Given the description of an element on the screen output the (x, y) to click on. 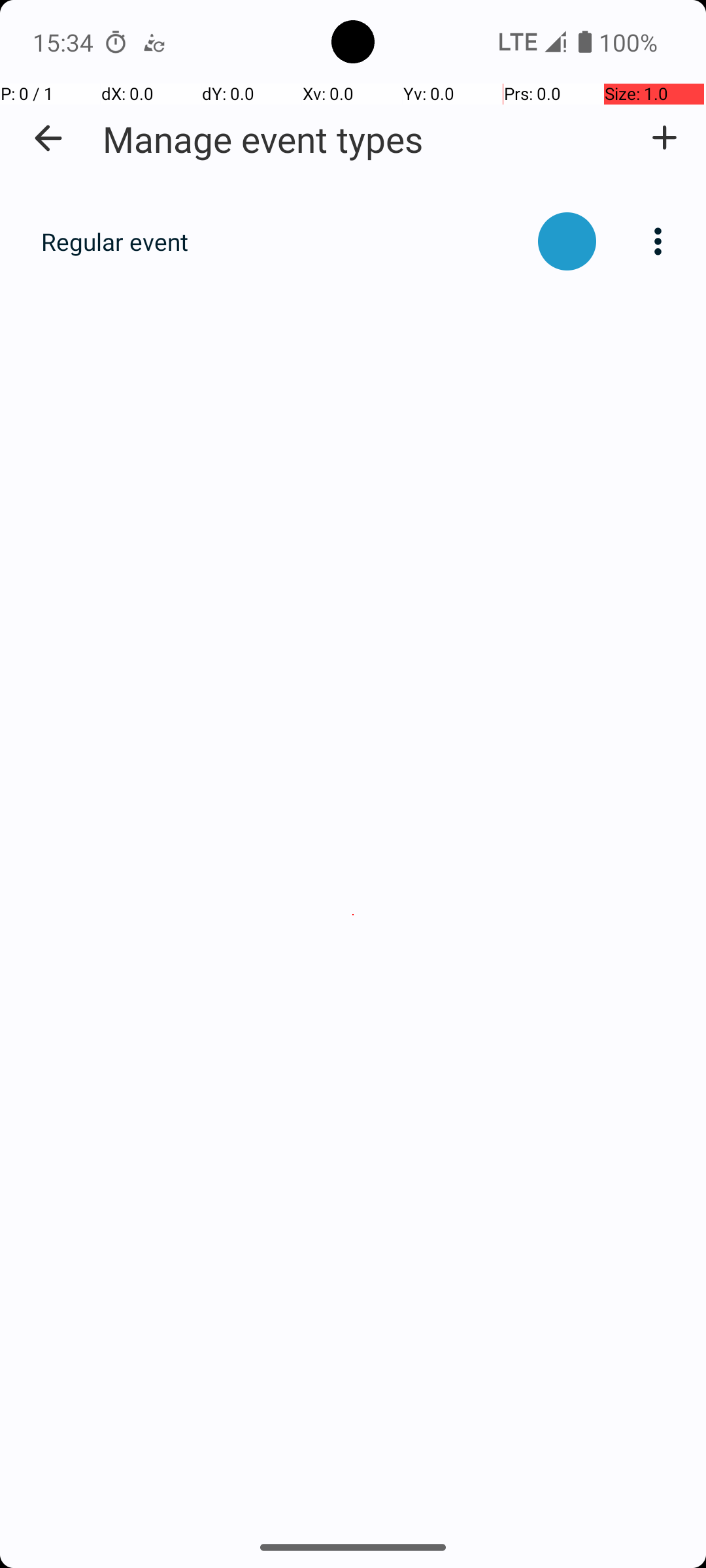
Add a new type Element type: android.widget.Button (664, 137)
